Given the description of an element on the screen output the (x, y) to click on. 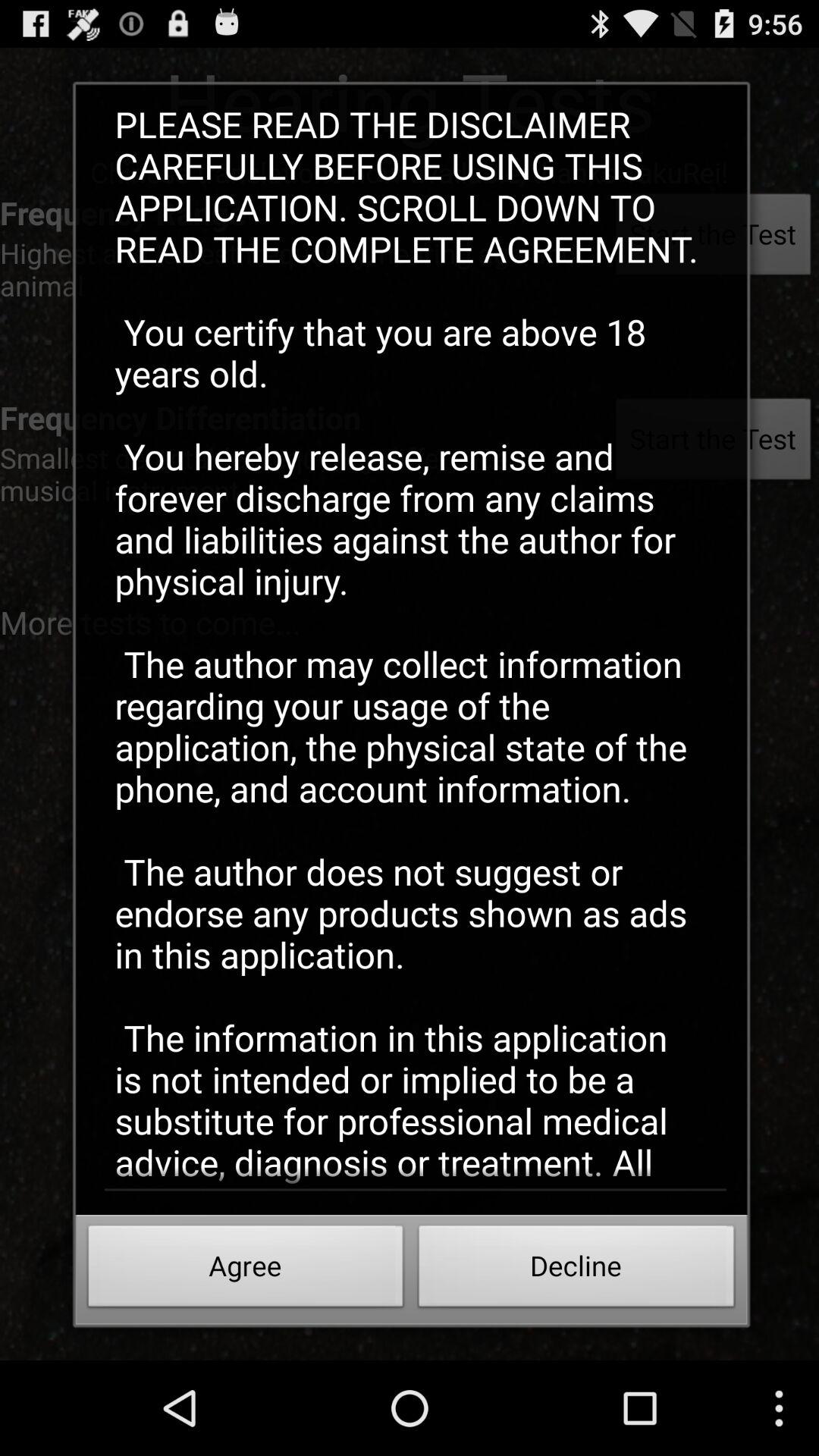
turn on the item at the bottom left corner (245, 1270)
